Given the description of an element on the screen output the (x, y) to click on. 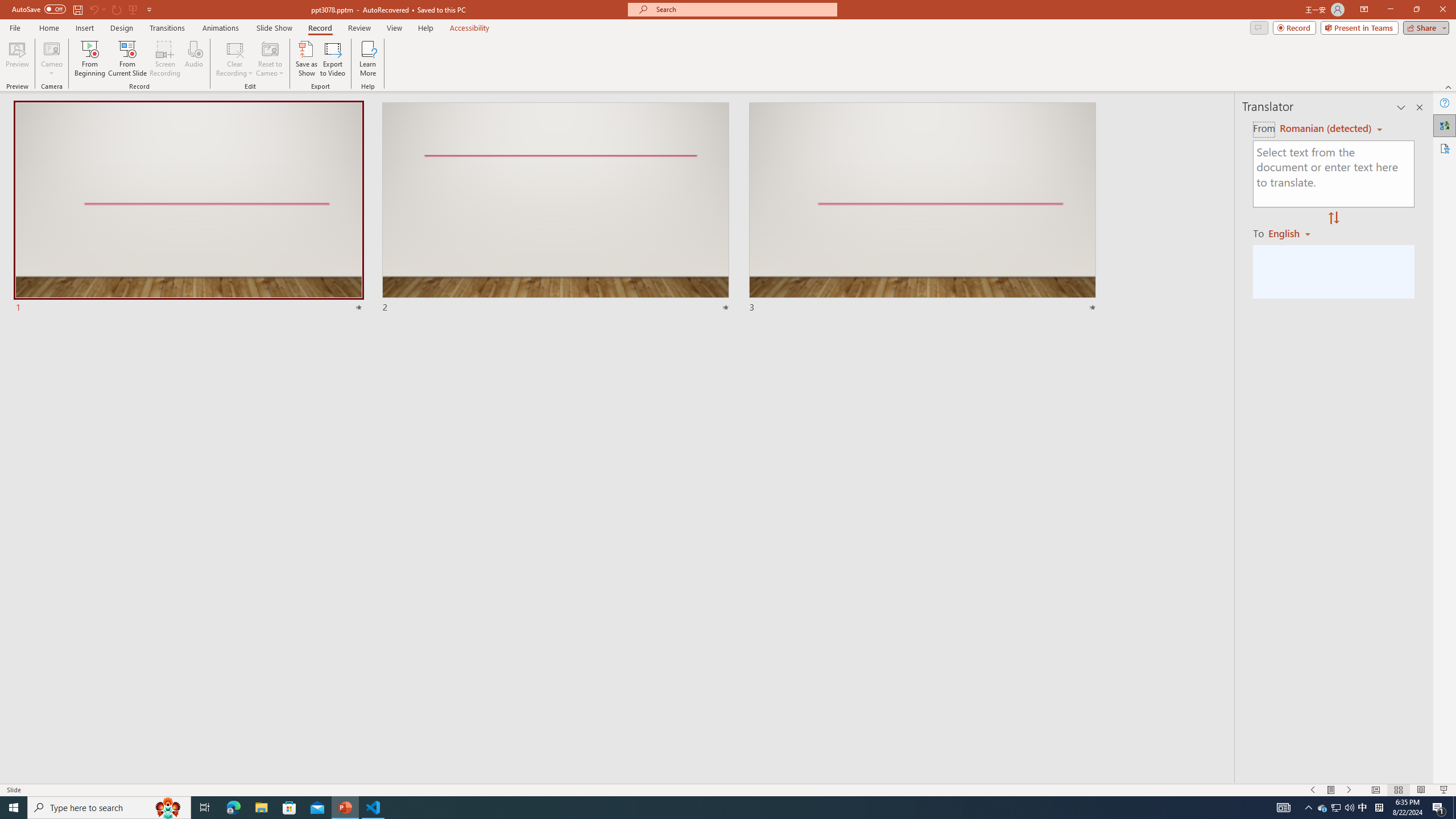
Export to Video (332, 58)
From Beginning... (89, 58)
Learn More (368, 58)
